Given the description of an element on the screen output the (x, y) to click on. 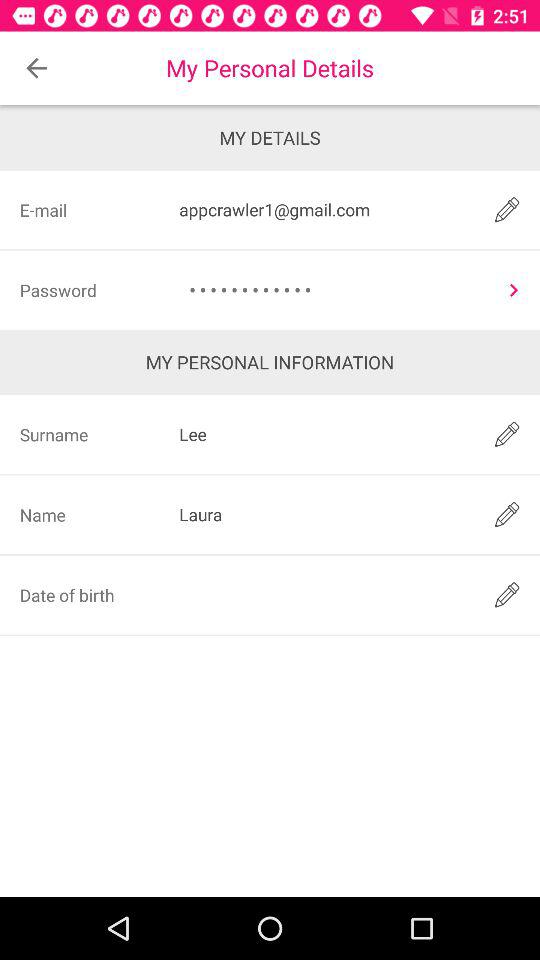
choose icon below the my personal information (323, 434)
